Given the description of an element on the screen output the (x, y) to click on. 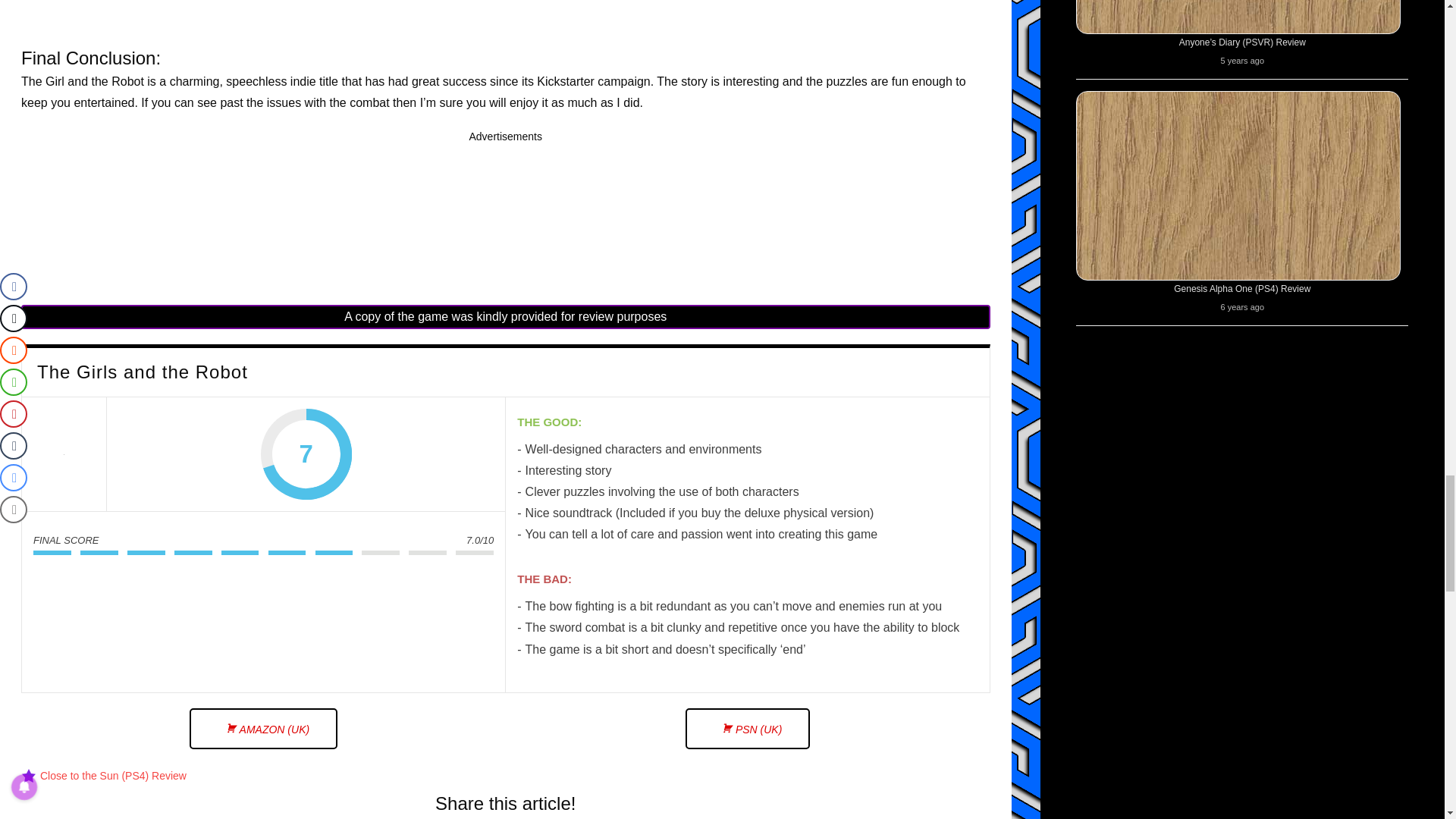
YouTube player (505, 7)
